Given the description of an element on the screen output the (x, y) to click on. 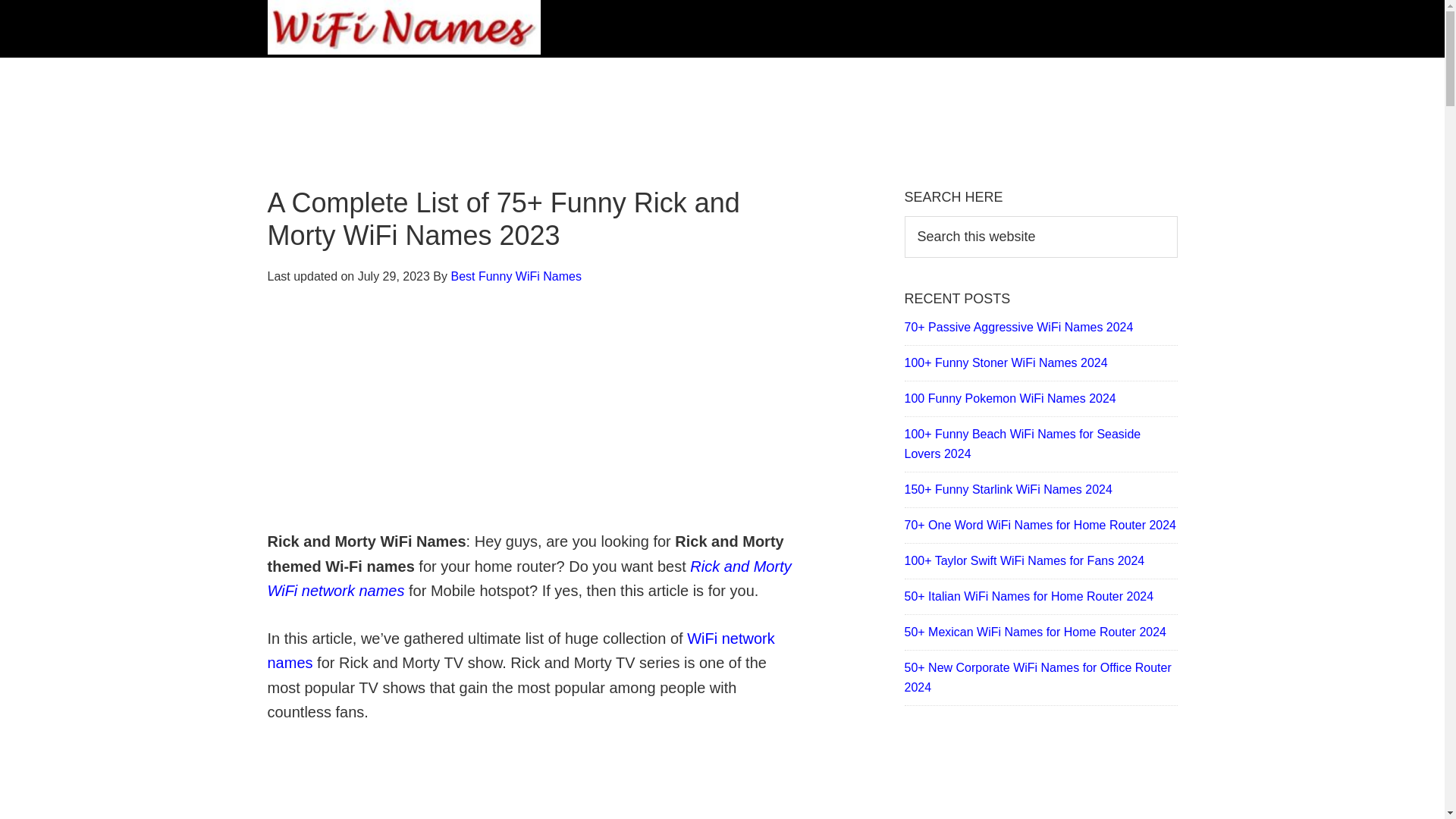
Advertisement (531, 783)
Best Funny WiFi Names 2023 (403, 28)
Advertisement (531, 417)
100 Funny Pokemon WiFi Names 2024 (1009, 398)
Best Funny WiFi Names (514, 276)
Rick and Morty WiFi network names (528, 578)
WiFi network names (520, 650)
